Given the description of an element on the screen output the (x, y) to click on. 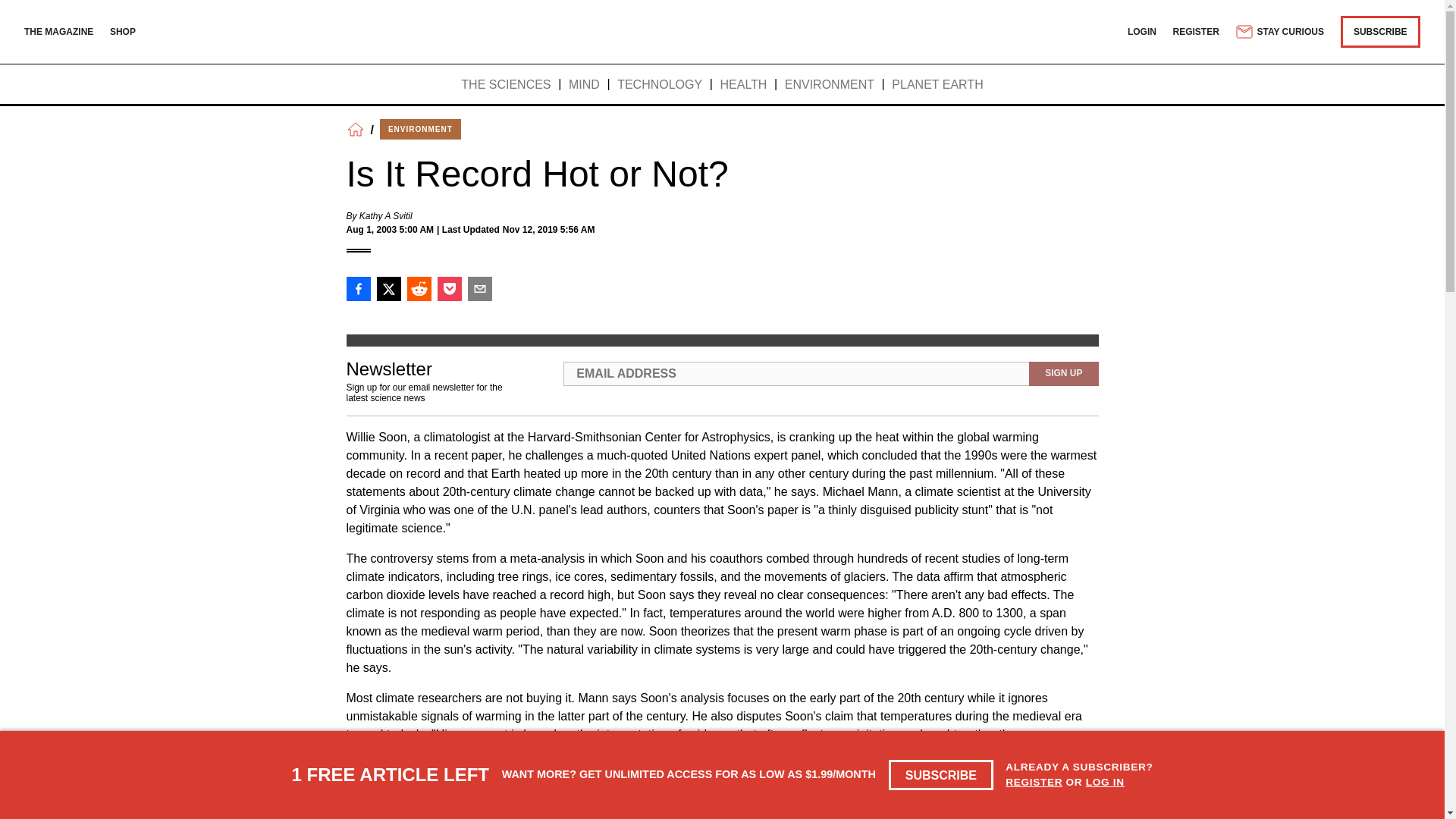
ENVIRONMENT (420, 128)
THE SCIENCES (505, 84)
SHOP (122, 31)
LOGIN (1141, 31)
MIND (584, 84)
LOG IN (1105, 781)
SUBSCRIBE (941, 775)
THE MAGAZINE (58, 31)
ENVIRONMENT (829, 84)
PLANET EARTH (936, 84)
STAY CURIOUS (1278, 31)
Kathy A Svitil (385, 215)
REGISTER (1196, 31)
SUBSCRIBE (1380, 31)
REGISTER (1034, 781)
